Given the description of an element on the screen output the (x, y) to click on. 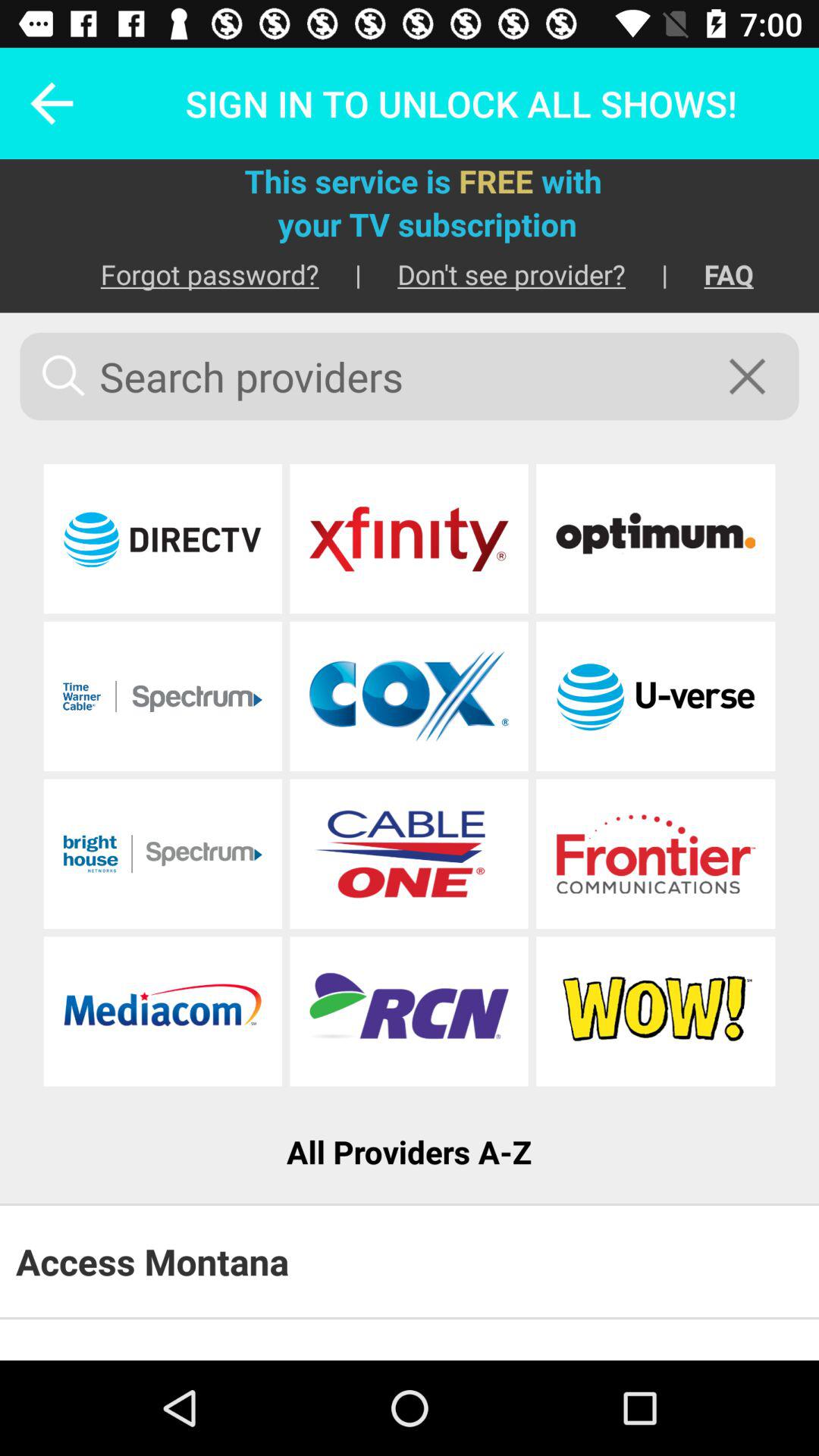
sign in to the provider (655, 538)
